Given the description of an element on the screen output the (x, y) to click on. 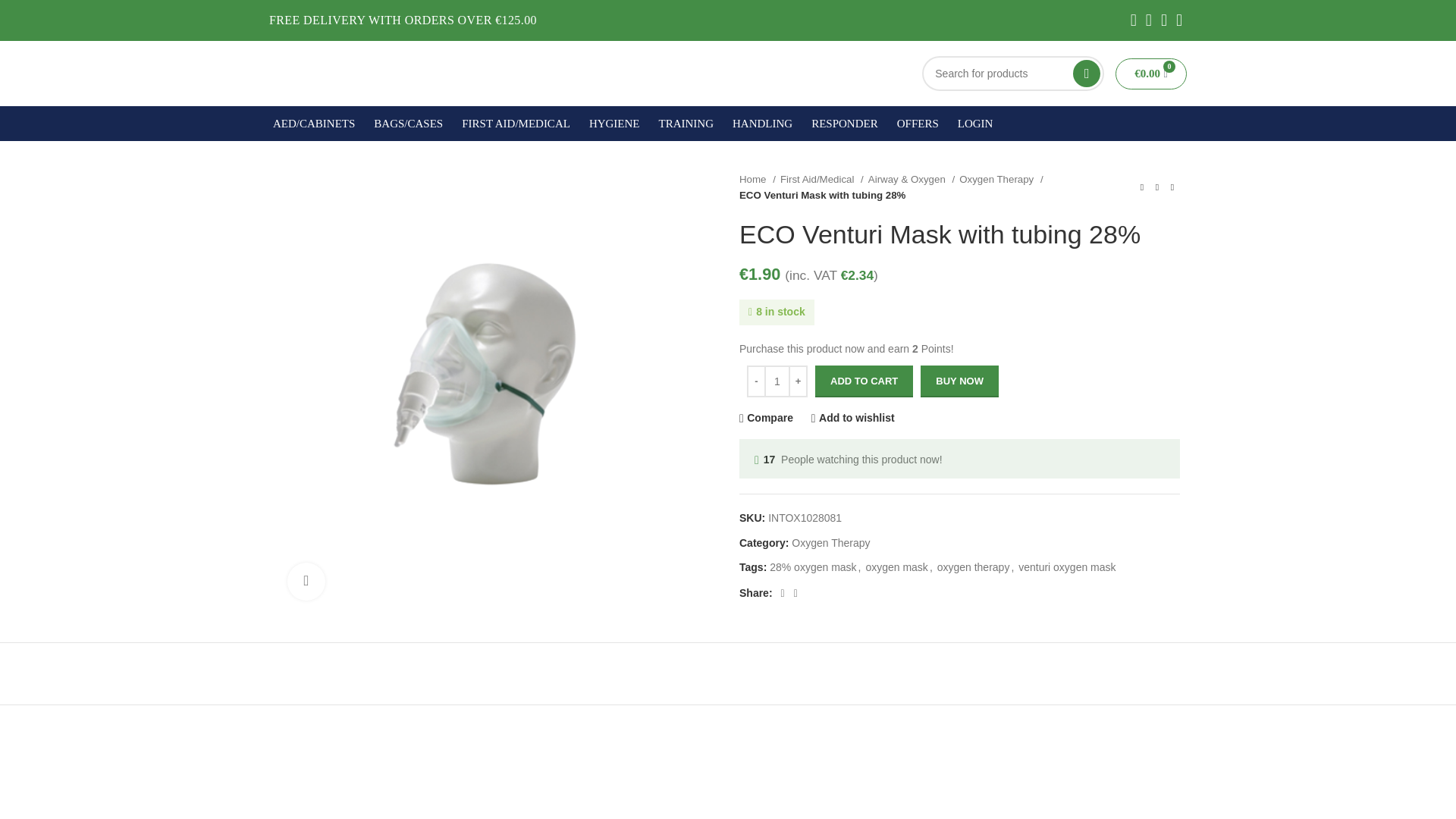
Search for products (1012, 73)
SEARCH (1086, 72)
